Given the description of an element on the screen output the (x, y) to click on. 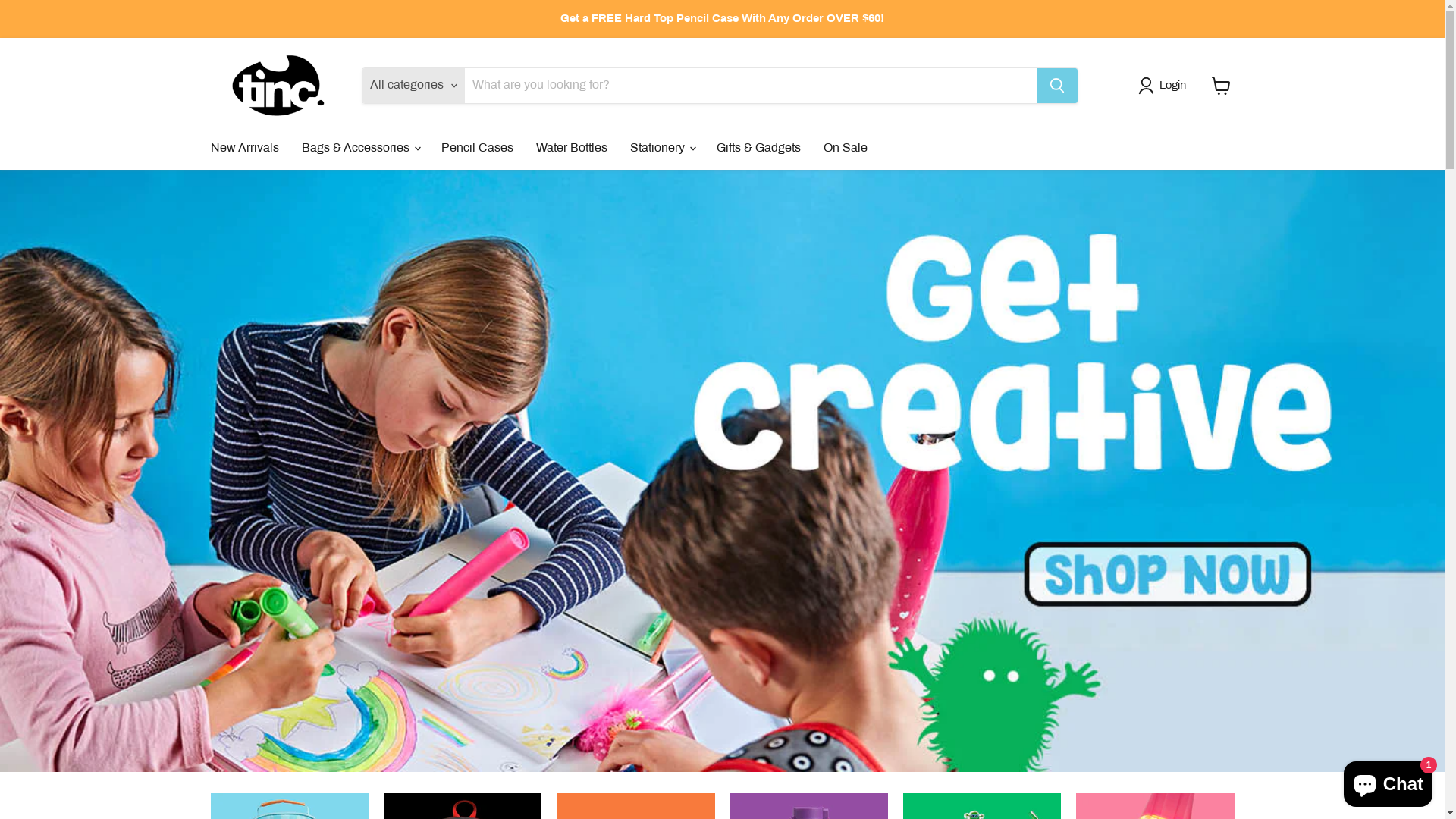
Shopify online store chat Element type: hover (1388, 780)
On Sale Element type: text (844, 147)
New Arrivals Element type: text (243, 147)
View cart Element type: text (1221, 85)
Water Bottles Element type: text (571, 147)
Pencil Cases Element type: text (476, 147)
Gifts & Gadgets Element type: text (758, 147)
Login Element type: text (1165, 85)
